Given the description of an element on the screen output the (x, y) to click on. 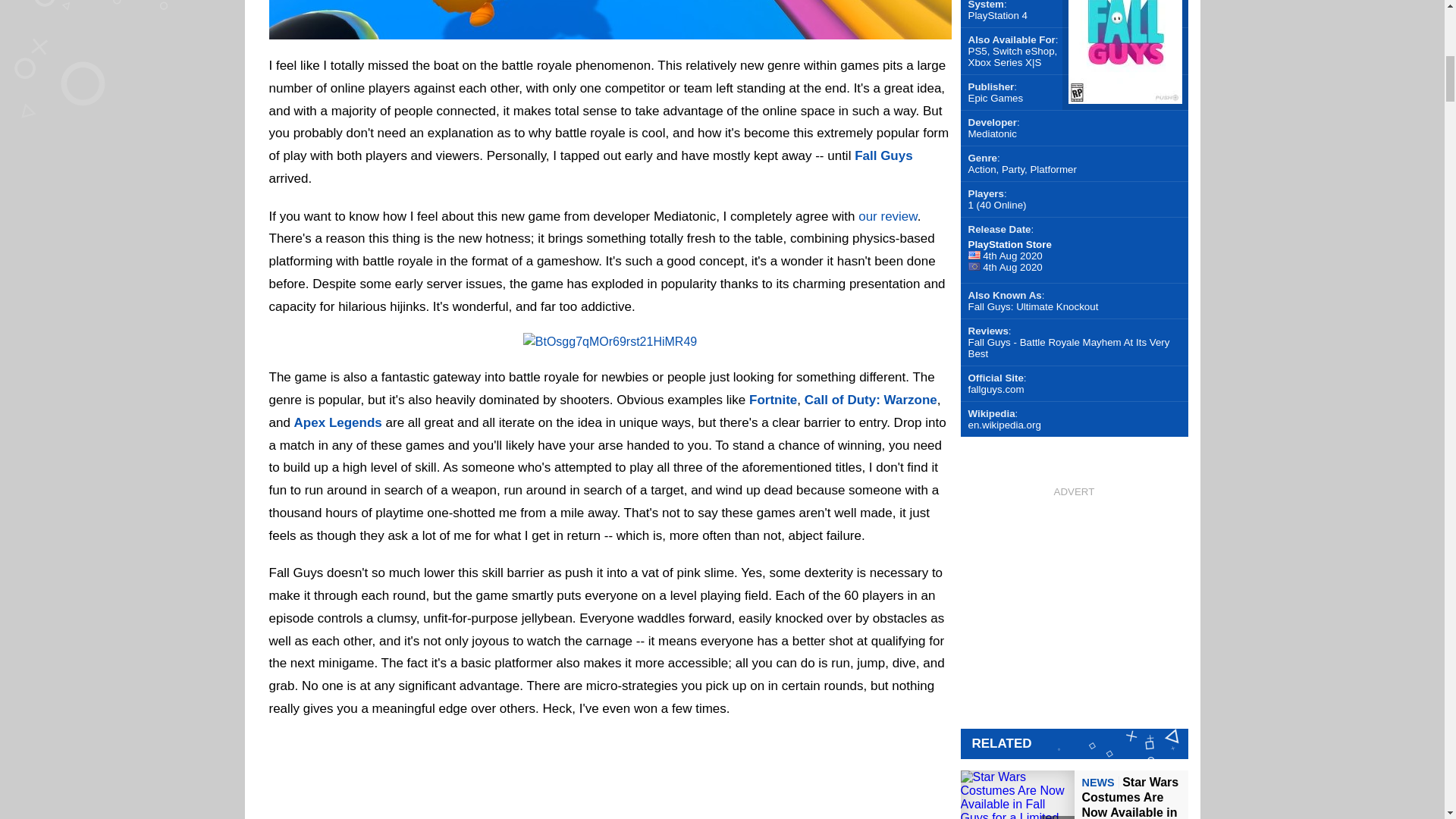
JrA9IcrEF3QDMxoyUNzb57qz (608, 29)
BtOsgg7qMOr69rst21HiMR49 (609, 341)
